Given the description of an element on the screen output the (x, y) to click on. 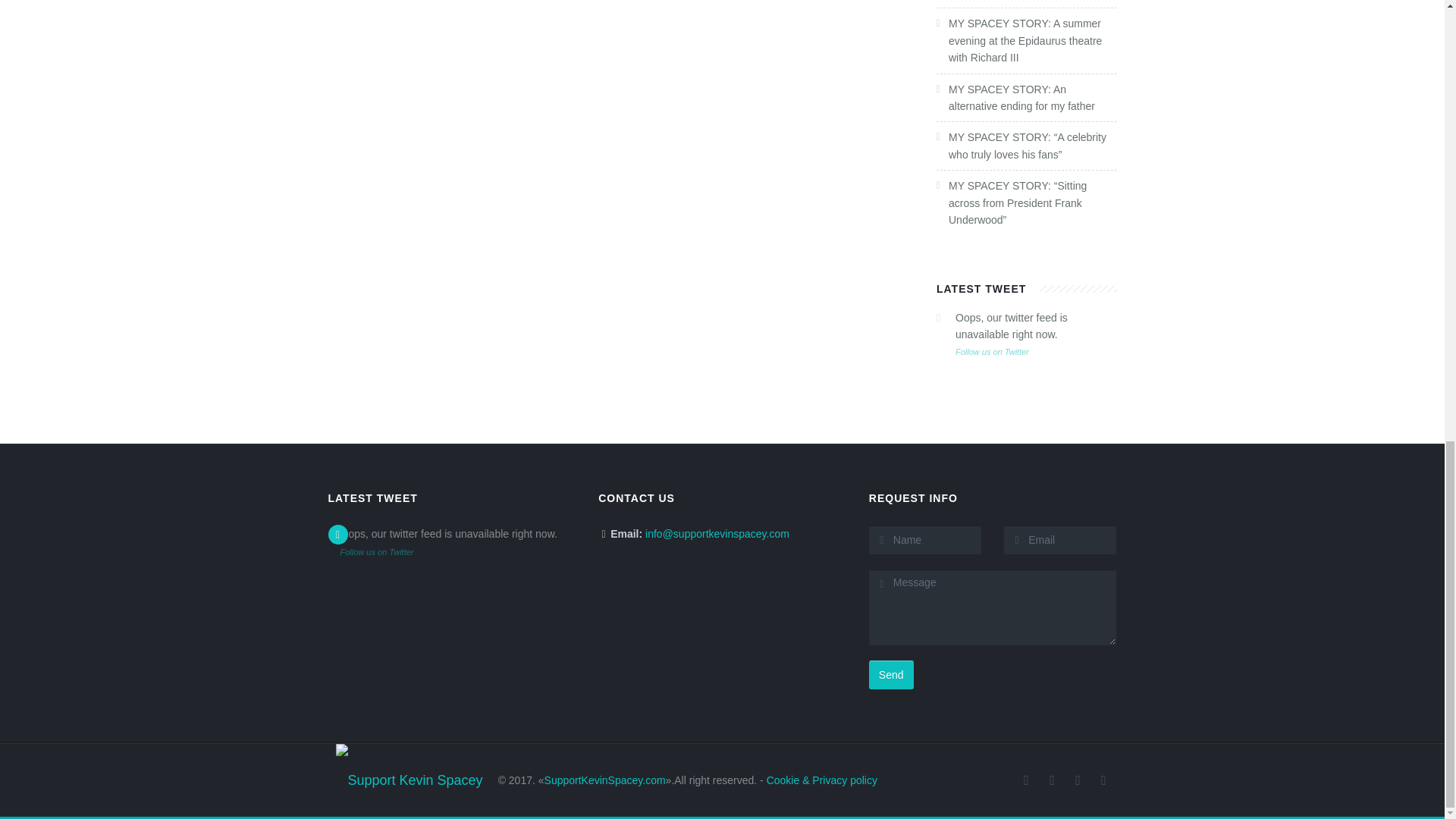
Support Kevin Spacey (407, 762)
Name (925, 539)
MY SPACEY STORY: An alternative ending for my father (1021, 97)
